Given the description of an element on the screen output the (x, y) to click on. 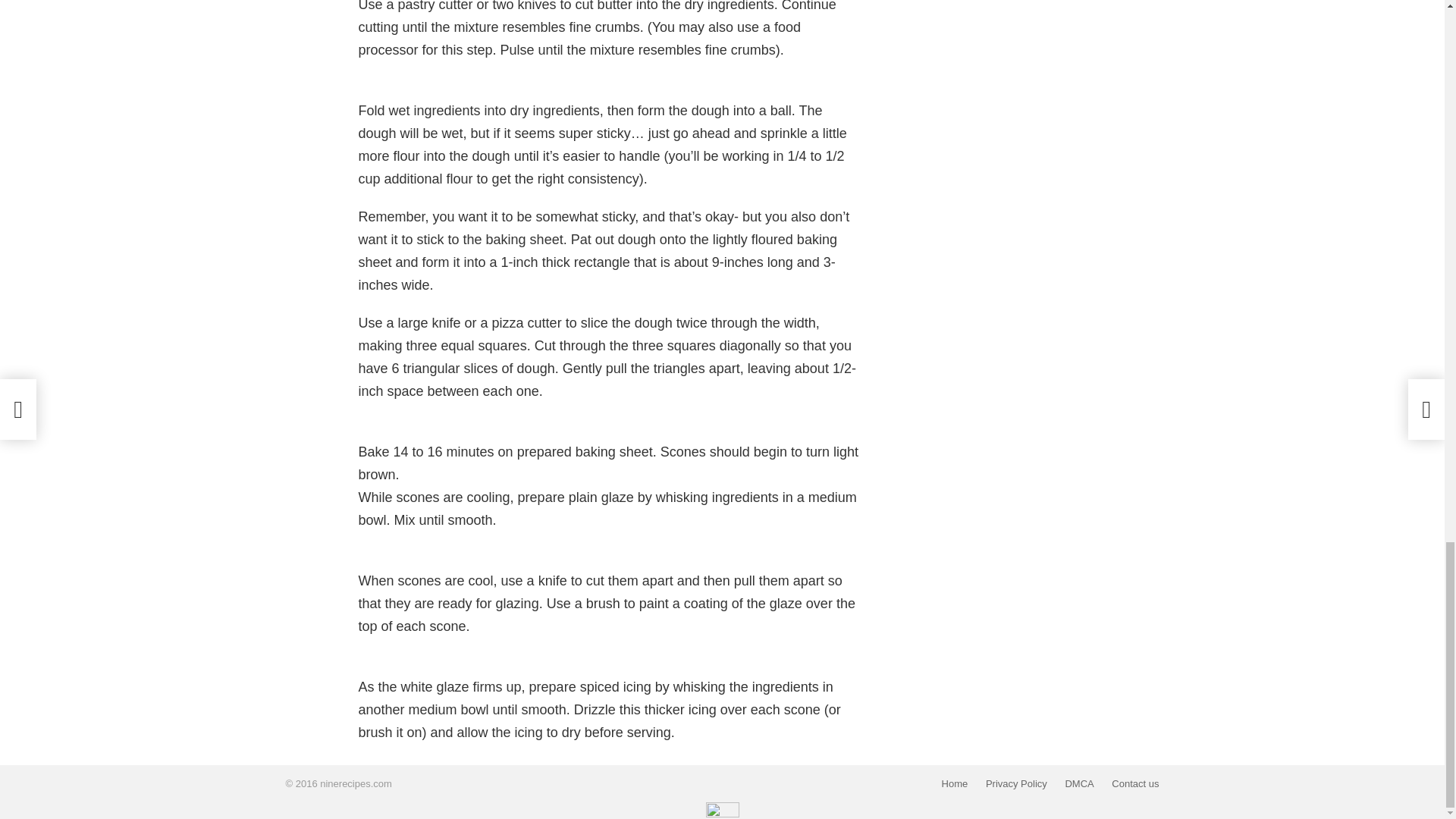
Contact us (1134, 784)
Privacy Policy (1016, 784)
DMCA (1078, 784)
Home (954, 784)
